Given the description of an element on the screen output the (x, y) to click on. 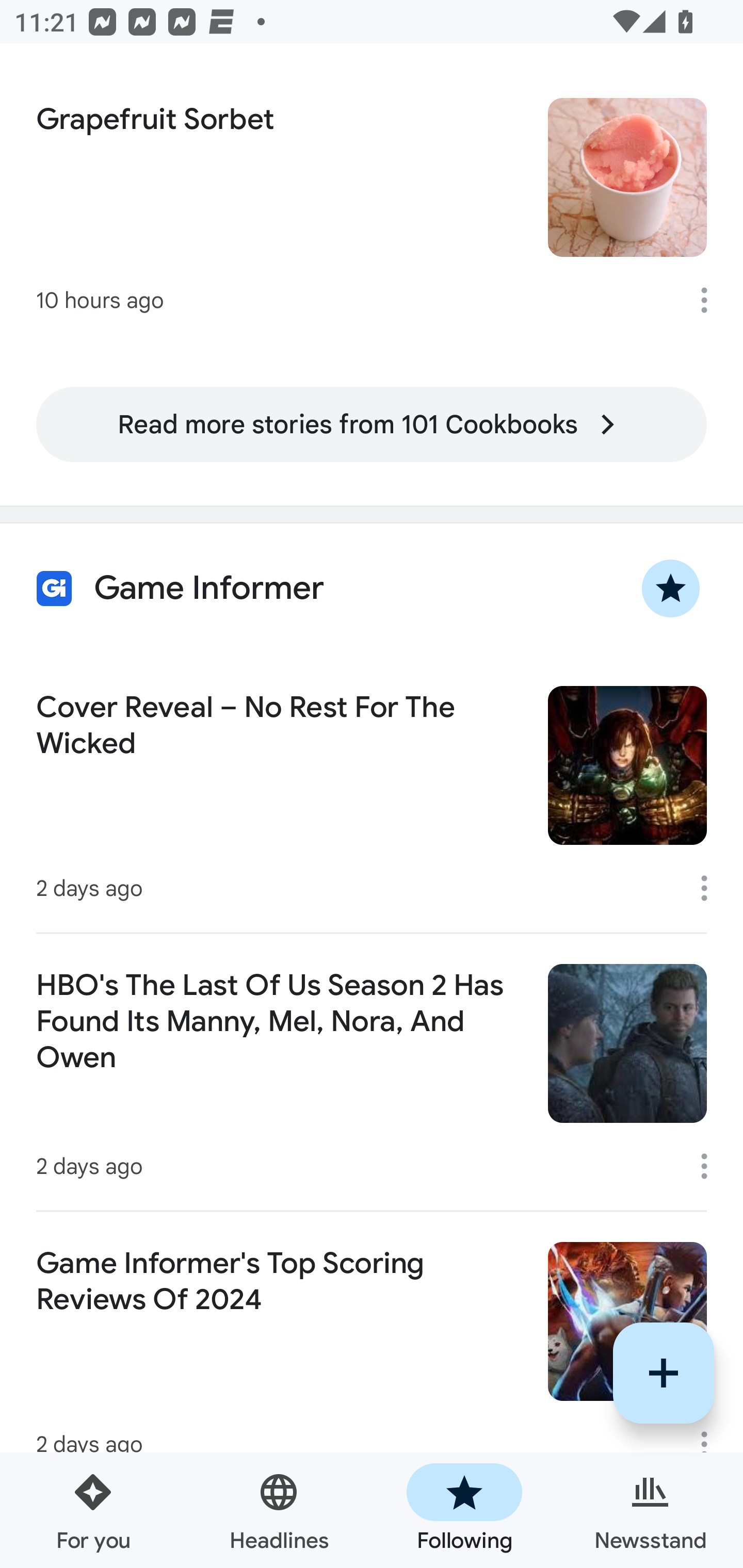
More options (711, 300)
Read more stories from 101 Cookbooks (371, 424)
Game Informer Game Informer Unfollow (371, 588)
Unfollow (670, 588)
More options (711, 888)
More options (711, 1165)
Follow (663, 1372)
For you (92, 1509)
Headlines (278, 1509)
Following (464, 1509)
Newsstand (650, 1509)
